Given the description of an element on the screen output the (x, y) to click on. 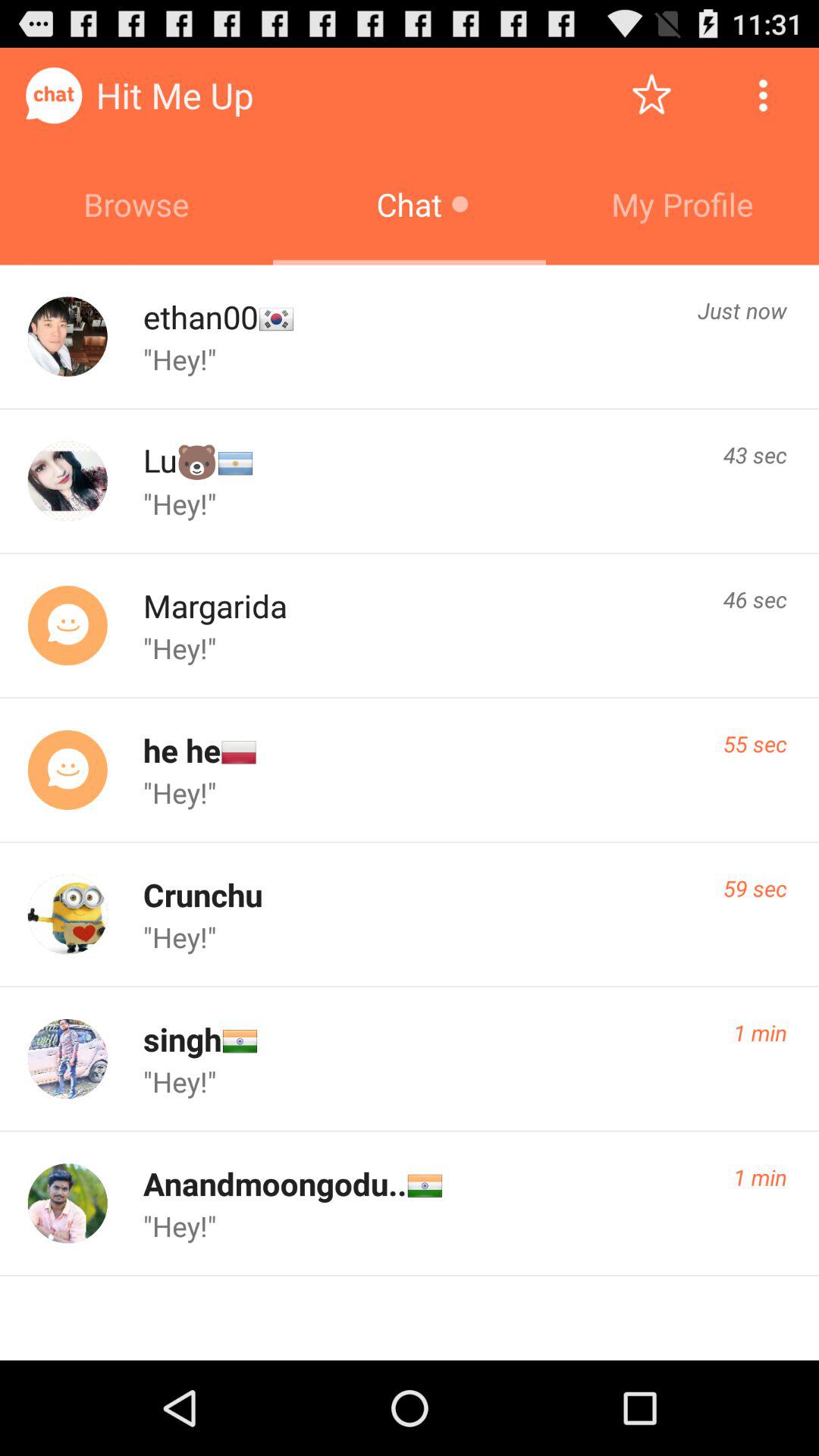
launch the icon above "hey!" (755, 743)
